Given the description of an element on the screen output the (x, y) to click on. 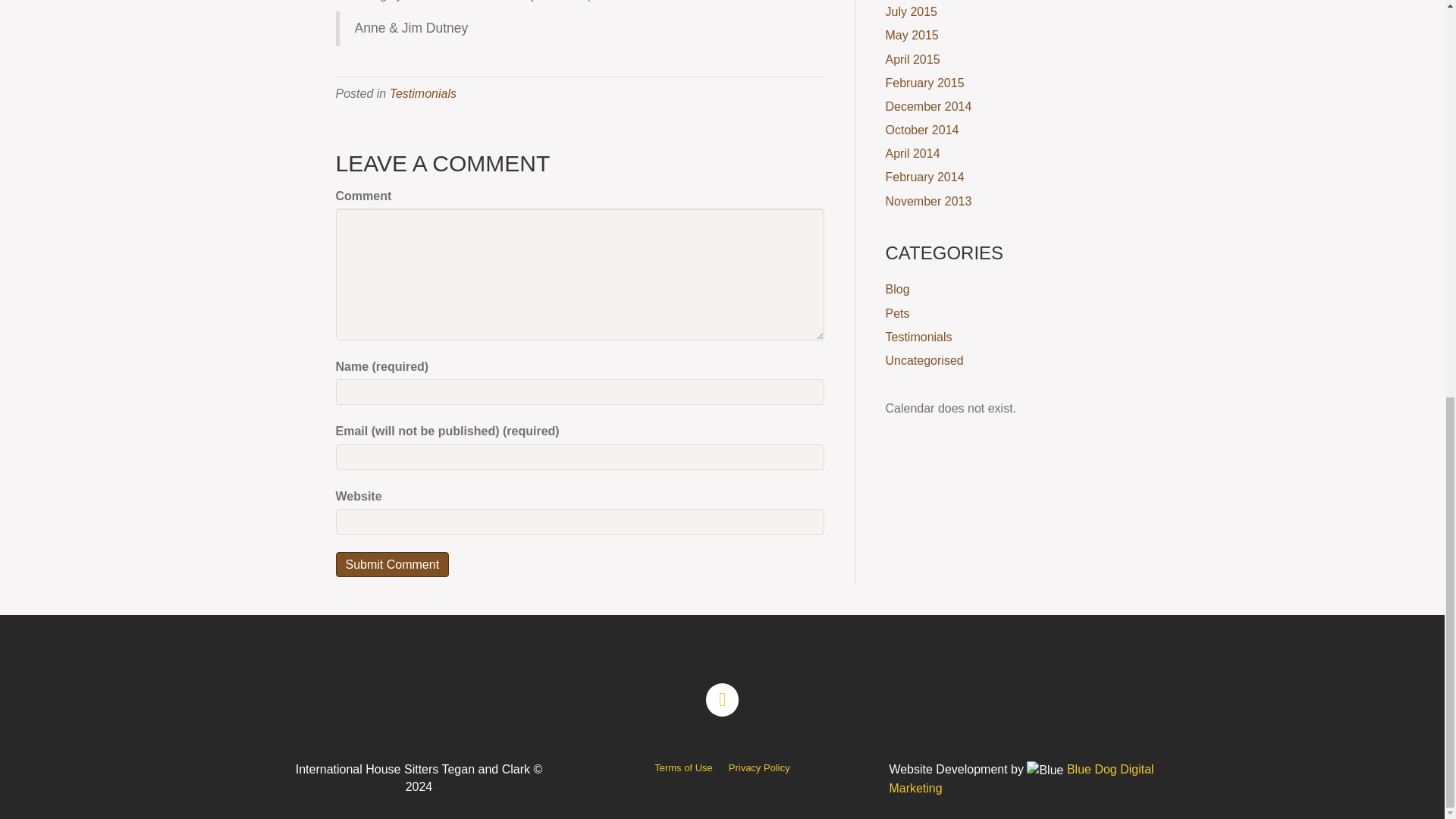
July 2015 (911, 11)
Submit Comment (391, 564)
Testimonials (423, 92)
Submit Comment (391, 564)
April 2015 (912, 58)
May 2015 (912, 34)
